Given the description of an element on the screen output the (x, y) to click on. 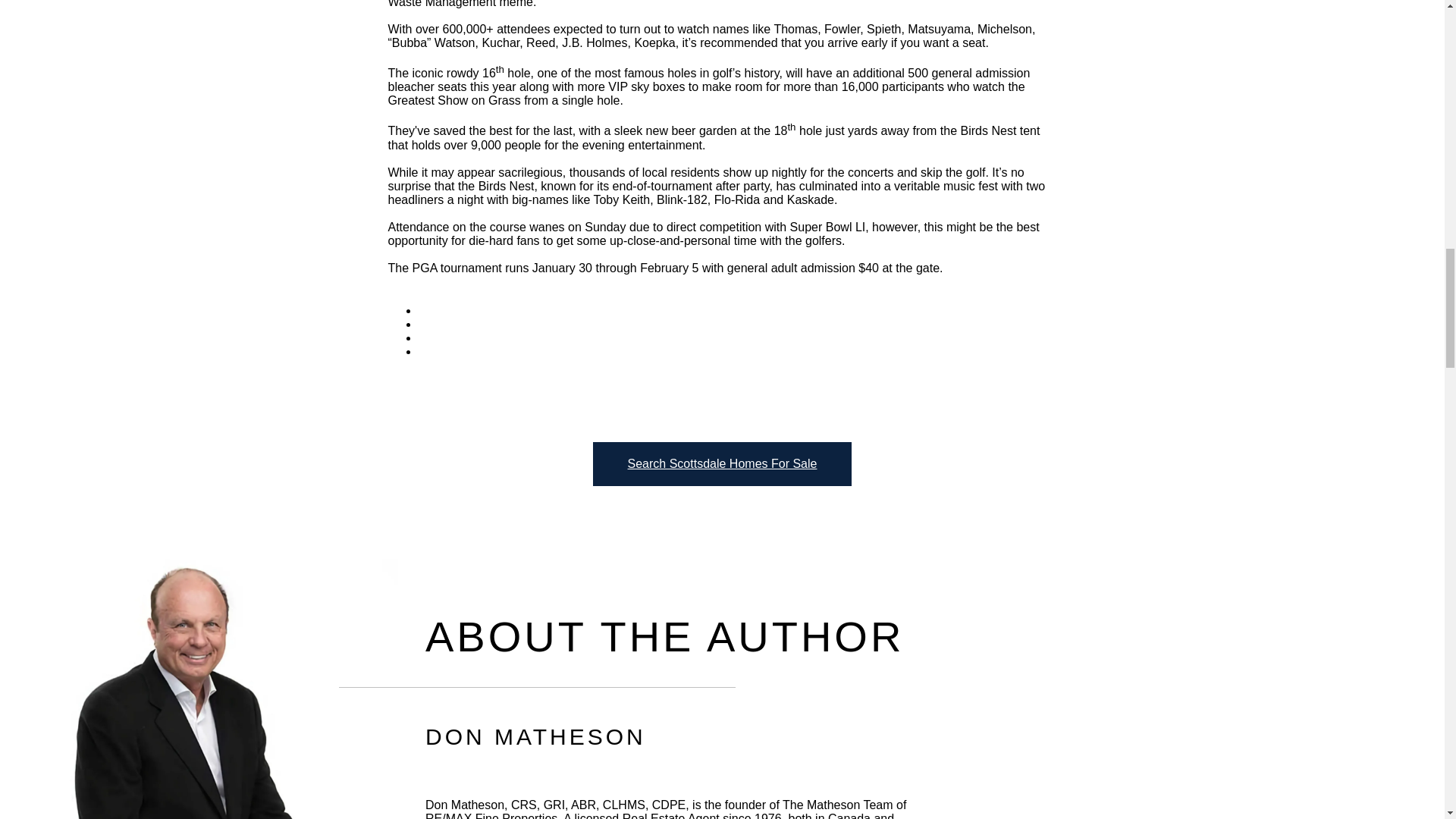
Search Scottsdale Homes For Sale (721, 464)
